Given the description of an element on the screen output the (x, y) to click on. 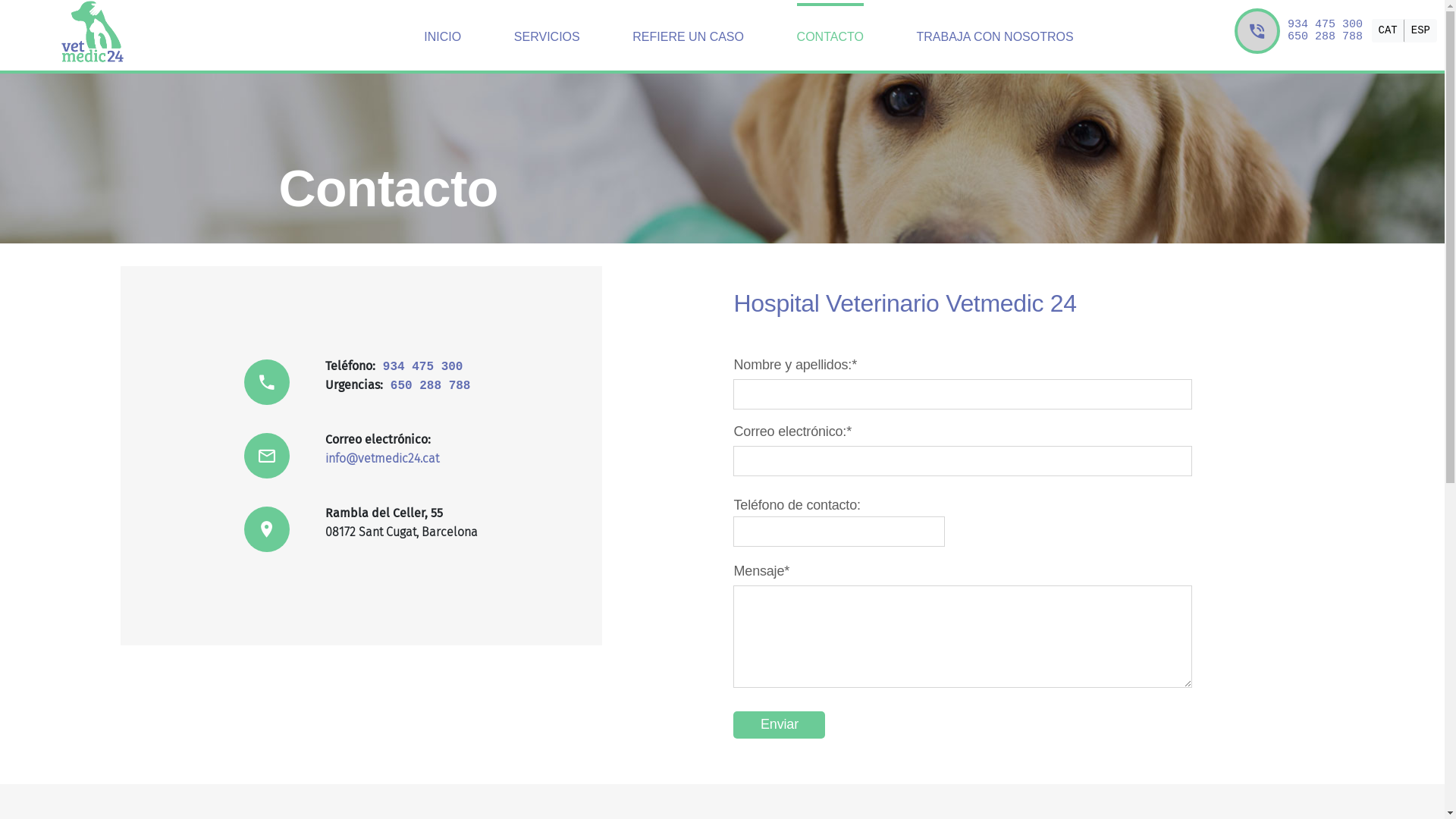
SERVICIOS Element type: text (547, 35)
REFIERE UN CASO Element type: text (687, 35)
650 288 788 Element type: text (1324, 36)
CONTACTO Element type: text (830, 35)
info@vetmedic24.cat Element type: text (382, 458)
934 475 300 Element type: text (418, 366)
TRABAJA CON NOSOTROS Element type: text (994, 35)
934 475 300 Element type: text (1324, 24)
INICIO Element type: text (442, 35)
650 288 788 Element type: text (426, 385)
